Given the description of an element on the screen output the (x, y) to click on. 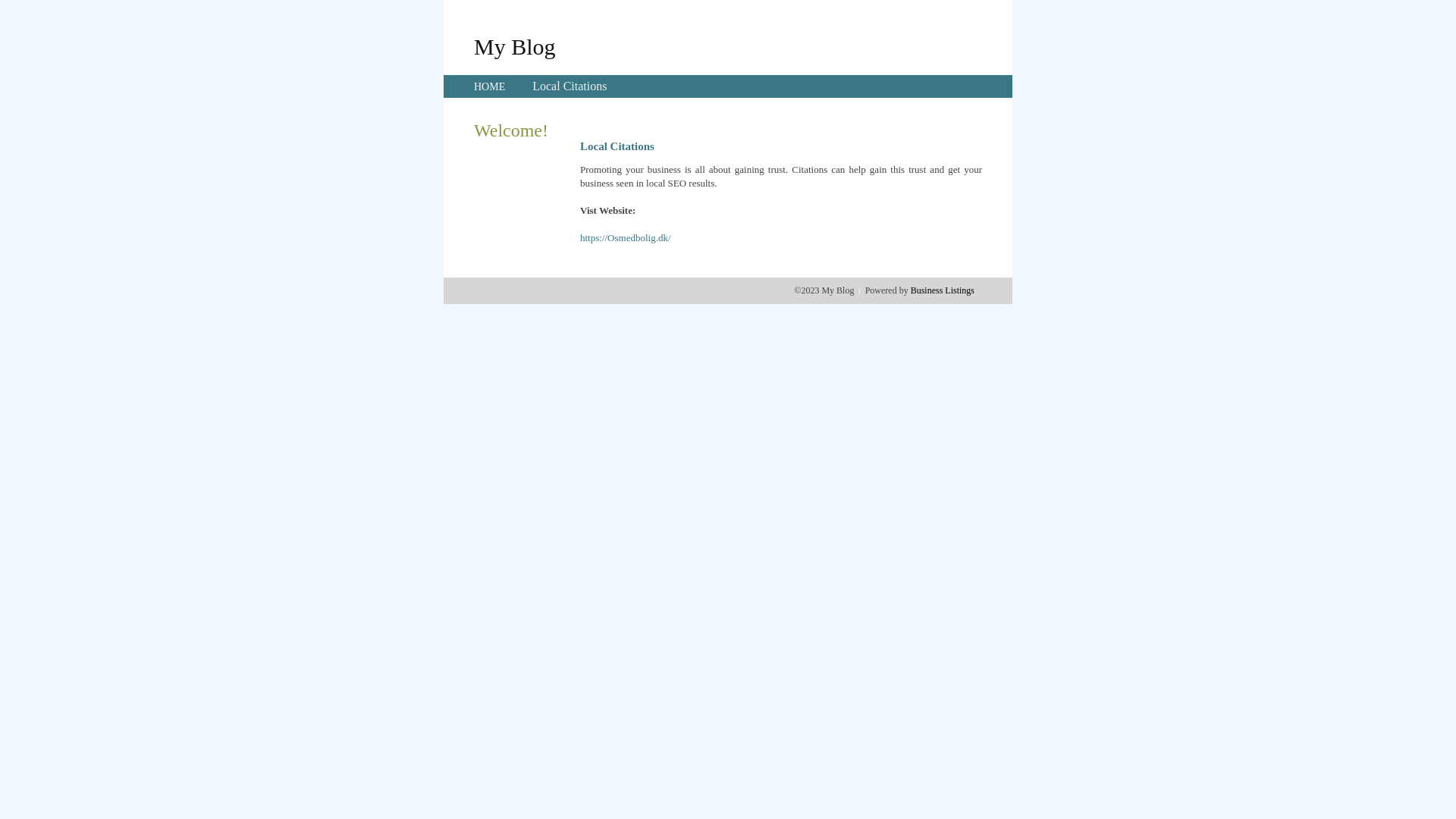
Business Listings Element type: text (942, 290)
https://Osmedbolig.dk/ Element type: text (625, 237)
My Blog Element type: text (514, 46)
Local Citations Element type: text (569, 85)
HOME Element type: text (489, 86)
